Given the description of an element on the screen output the (x, y) to click on. 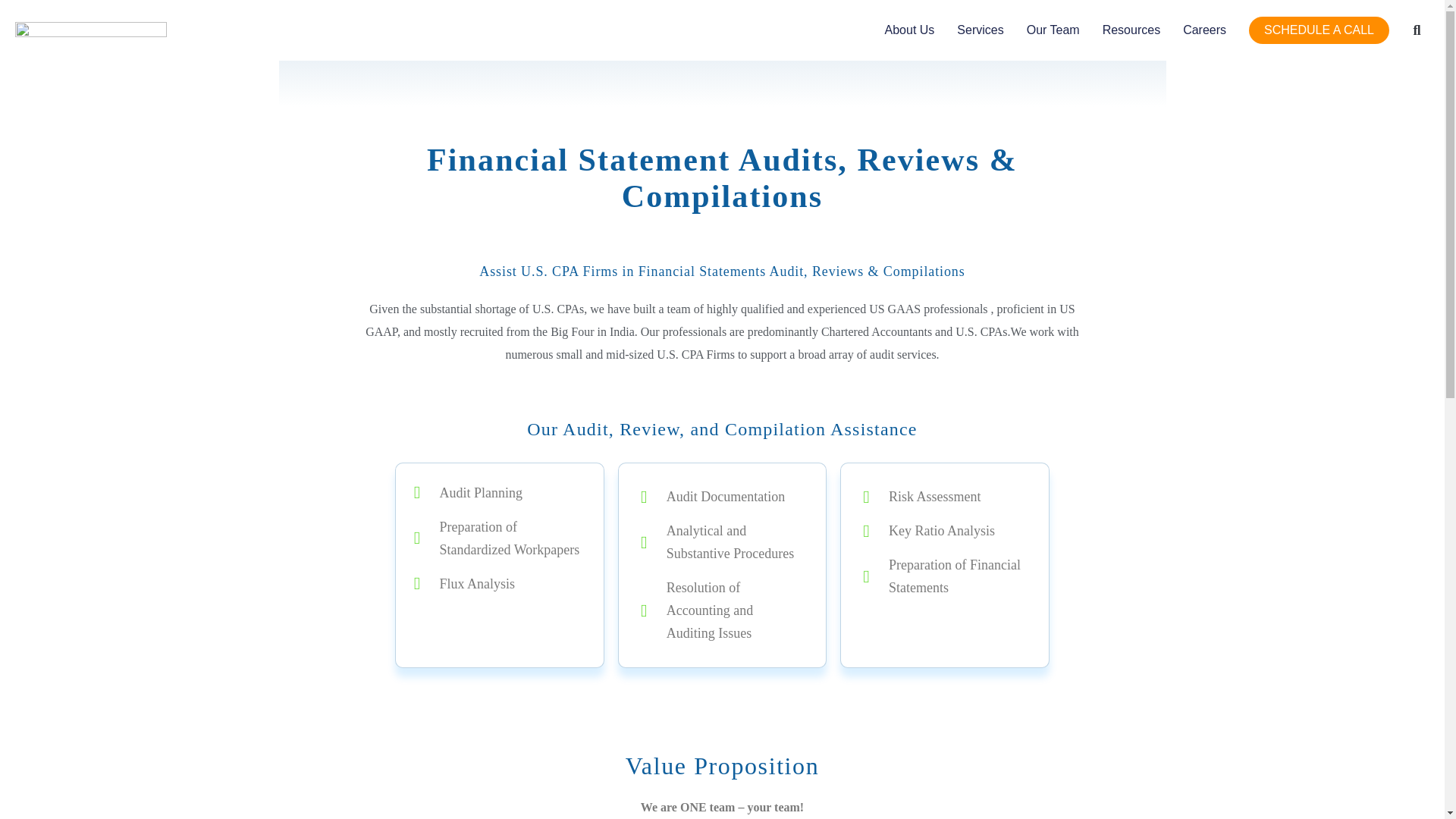
Resources (1130, 30)
About Us (909, 30)
Our Team (1053, 30)
About Us (909, 30)
News (1130, 30)
Our Team (1053, 30)
Services (979, 30)
Careers (1203, 30)
Services (979, 30)
